Given the description of an element on the screen output the (x, y) to click on. 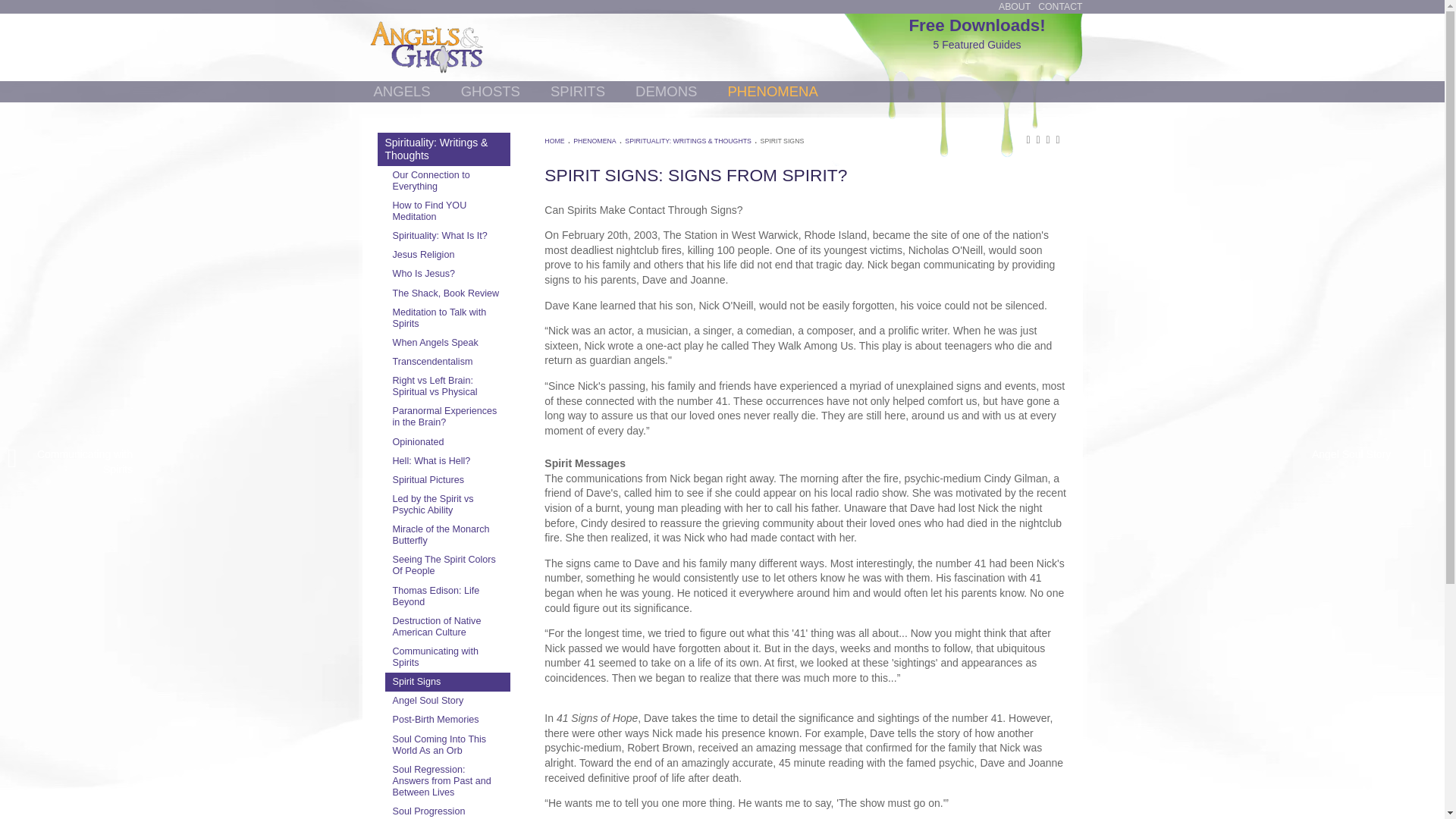
Miracle of the Monarch Butterfly (448, 535)
Opinionated (448, 442)
Hell: What is Hell? (976, 32)
Paranormal Experiences in the Brain? (448, 461)
Angel Soul Story (448, 417)
Communicating with Spirits (448, 700)
When Angels Speak (448, 657)
DEMONS (448, 342)
Our Connection to Everything (665, 91)
Spirit Signs (448, 181)
ANGELS (448, 681)
GHOSTS (401, 91)
Led by the Spirit vs Psychic Ability (489, 91)
PHENOMENA (448, 504)
